Given the description of an element on the screen output the (x, y) to click on. 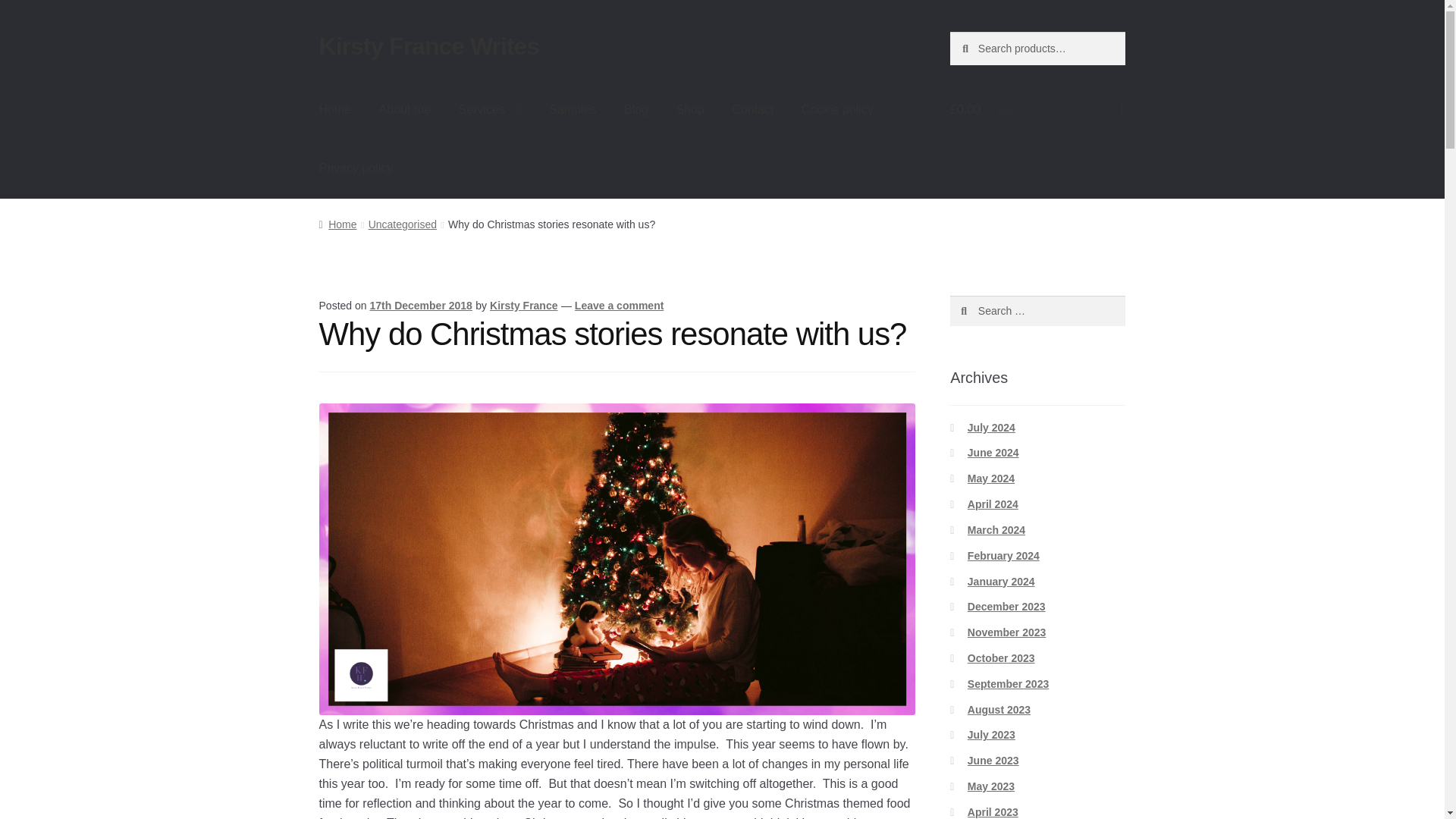
Uncategorised (402, 224)
Leave a comment (619, 305)
17th December 2018 (420, 305)
Kirsty France (523, 305)
Samples (572, 109)
Shop (689, 109)
Kirsty France Writes (429, 45)
View your shopping basket (1037, 109)
Home (335, 109)
Services (490, 109)
Contact (752, 109)
Privacy policy (356, 168)
